Given the description of an element on the screen output the (x, y) to click on. 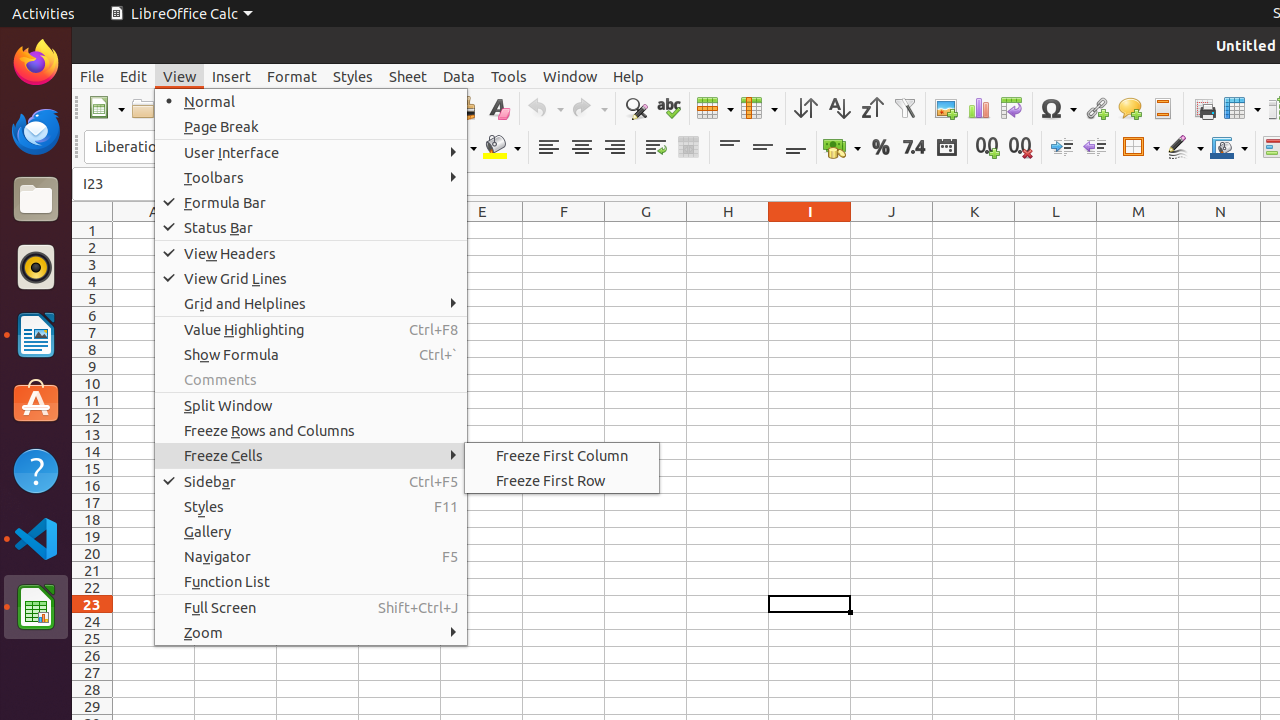
Print Area Element type: push-button (1203, 108)
Percent Element type: push-button (880, 147)
Center Vertically Element type: push-button (762, 147)
Status Bar Element type: check-menu-item (311, 227)
Decrease Element type: push-button (1094, 147)
